Given the description of an element on the screen output the (x, y) to click on. 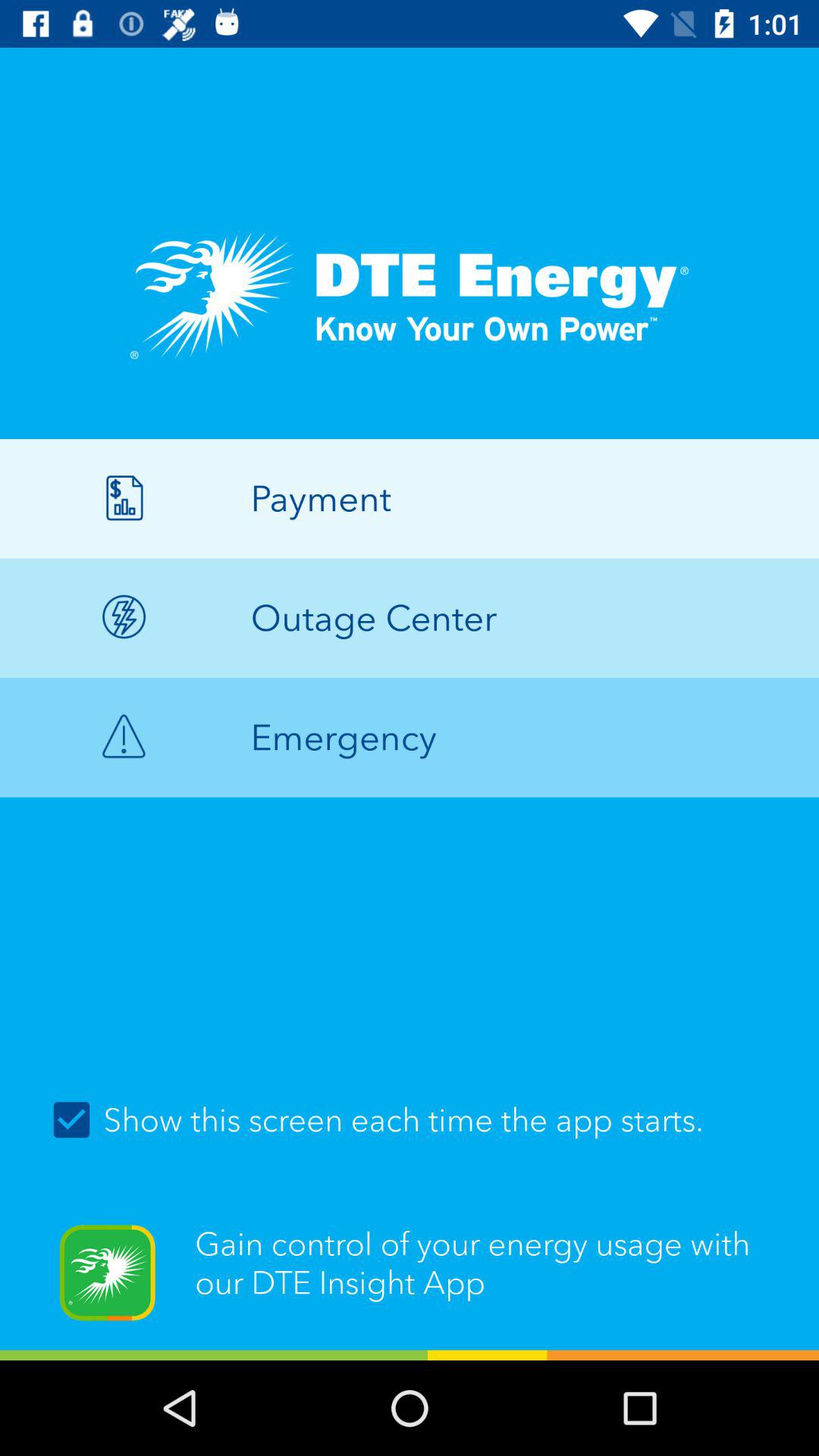
select the gain control of item (409, 1282)
